Given the description of an element on the screen output the (x, y) to click on. 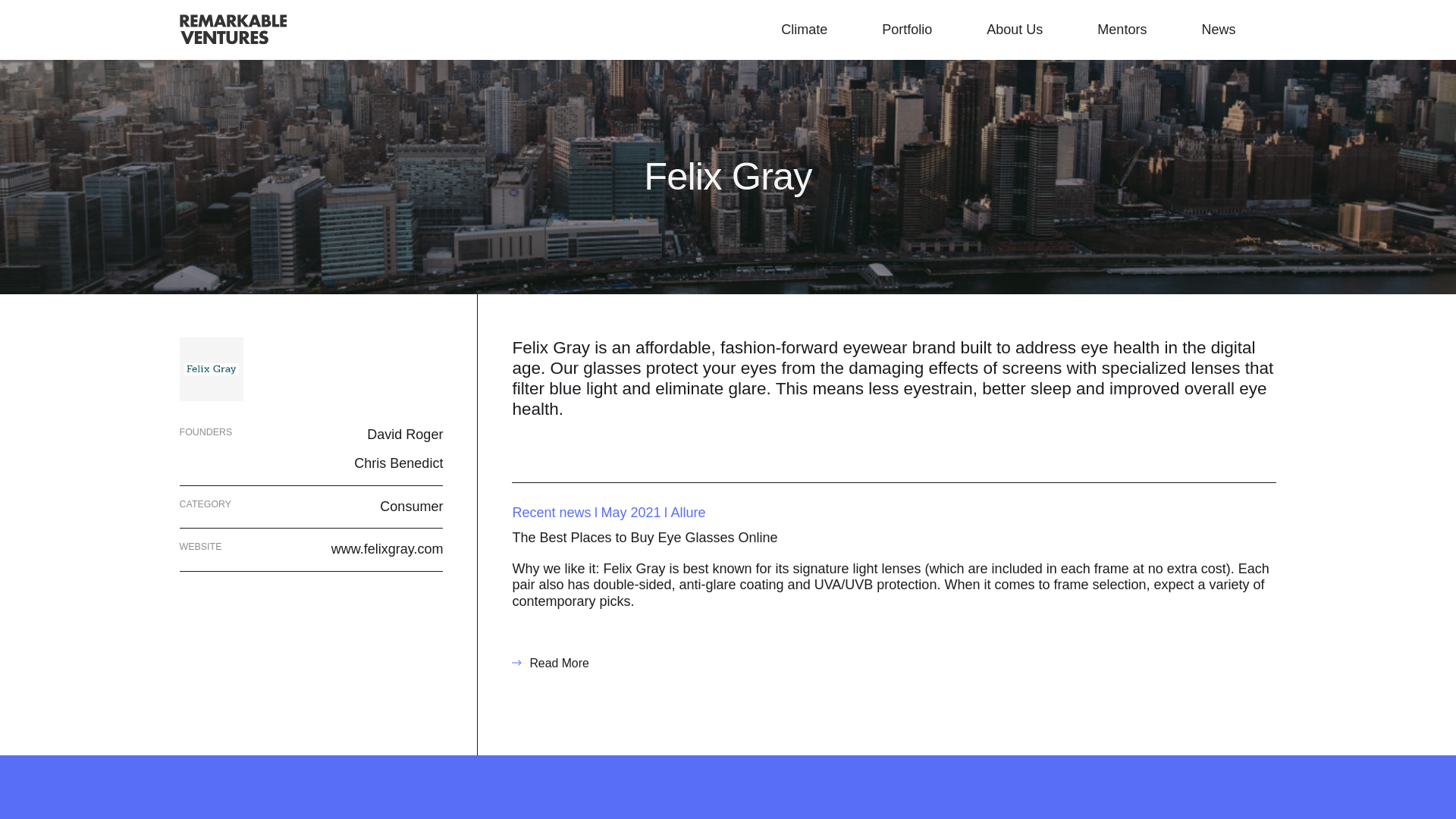
www.felixgray.com (387, 555)
Climate (803, 29)
Portfolio (906, 29)
Mentors (1122, 29)
Read More (550, 663)
About Us (1014, 29)
News (1217, 29)
